Given the description of an element on the screen output the (x, y) to click on. 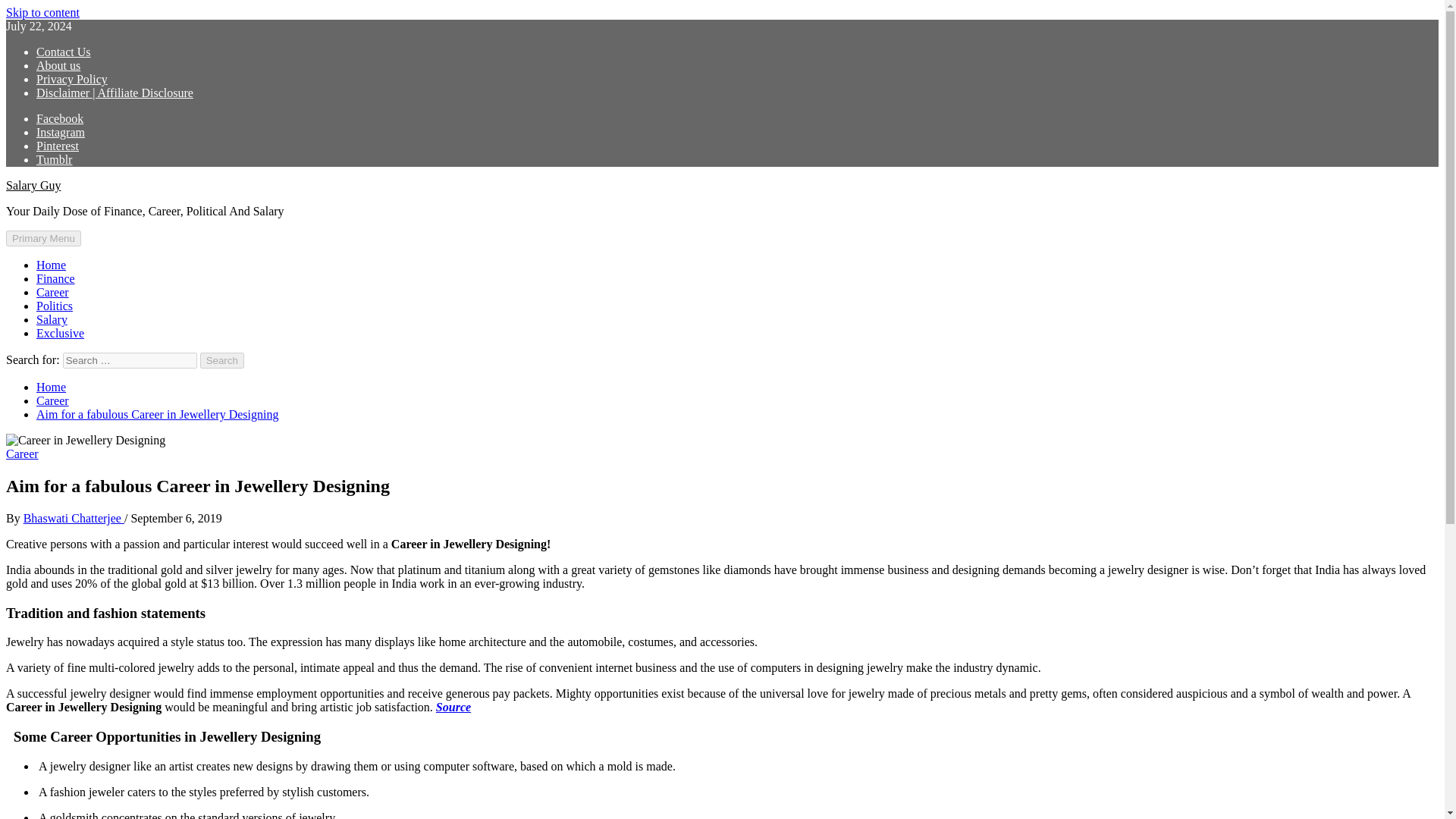
Salary (51, 318)
About us (58, 65)
Salary Guy (33, 185)
Search (222, 360)
Tumblr (53, 159)
Search (222, 360)
Exclusive (60, 332)
Career (52, 291)
Politics (54, 305)
Skip to content (42, 11)
Facebook (59, 118)
Career (22, 453)
Bhaswati Chatterjee (73, 517)
Aim for a fabulous Career in Jewellery Designing (157, 413)
Home (50, 386)
